Given the description of an element on the screen output the (x, y) to click on. 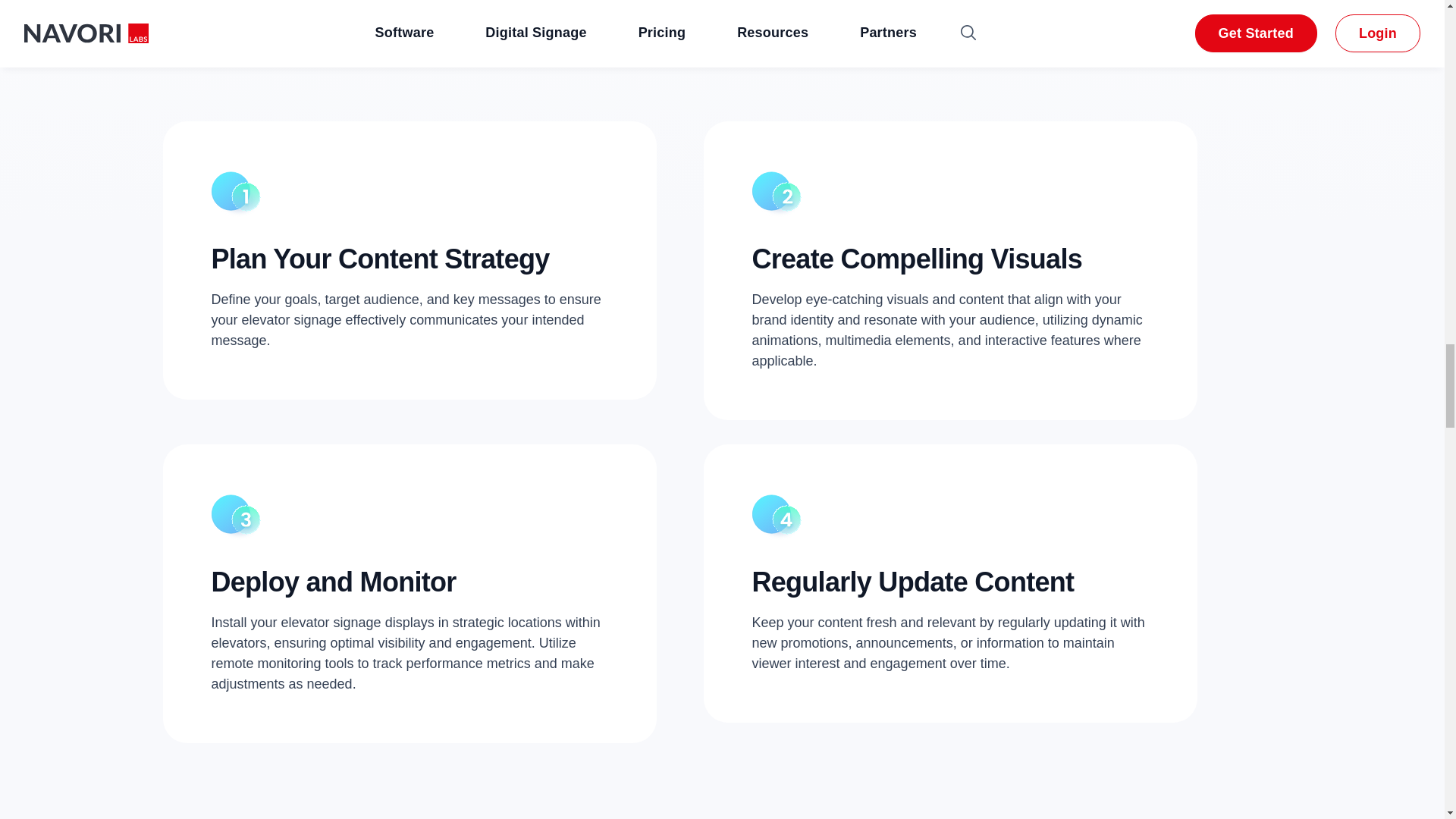
Number-1-1 (235, 193)
Number-3-1 (235, 517)
Number-4-1 (777, 517)
Number-2-1 (777, 193)
